Given the description of an element on the screen output the (x, y) to click on. 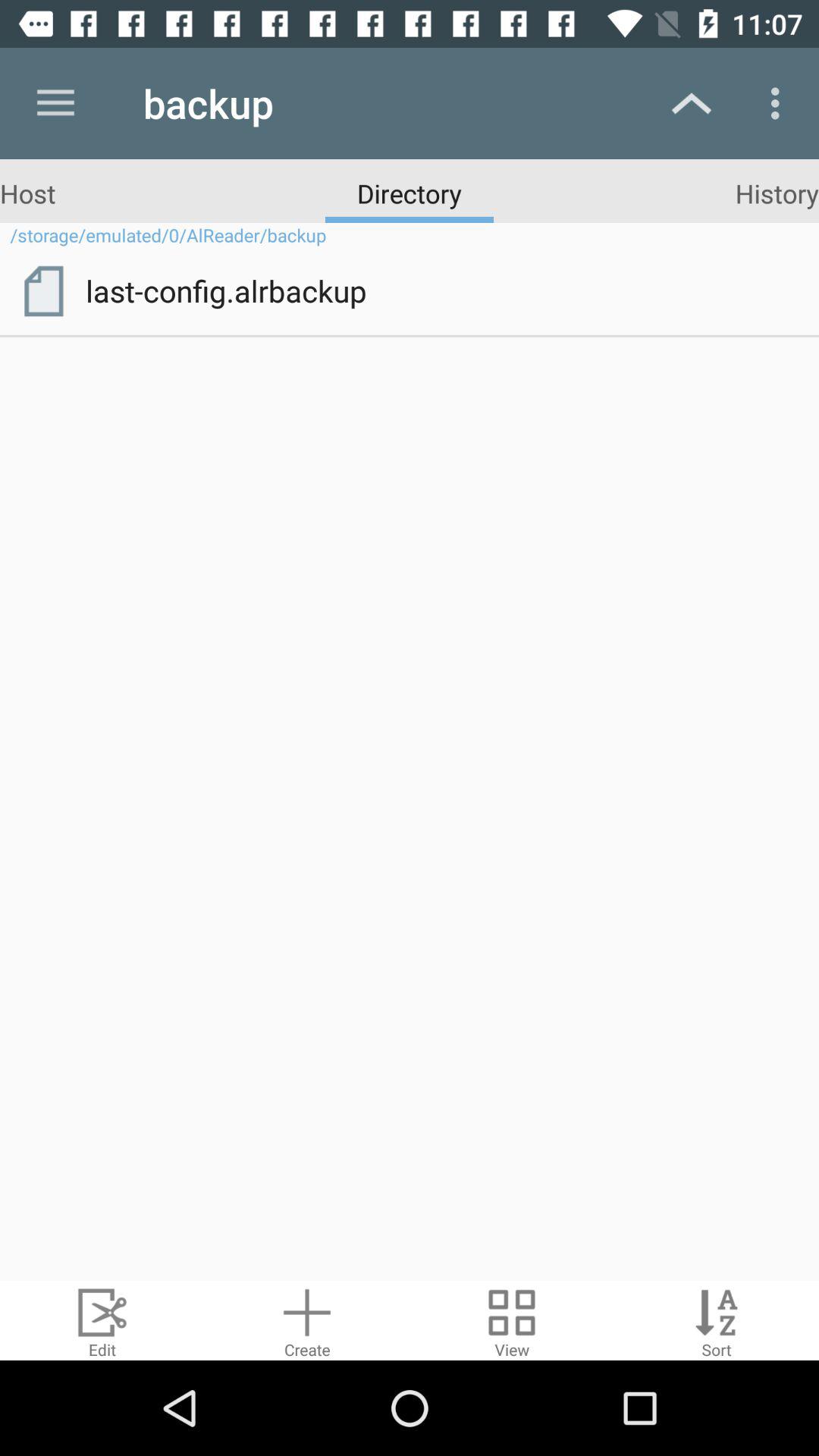
tab to edit (102, 1320)
